Given the description of an element on the screen output the (x, y) to click on. 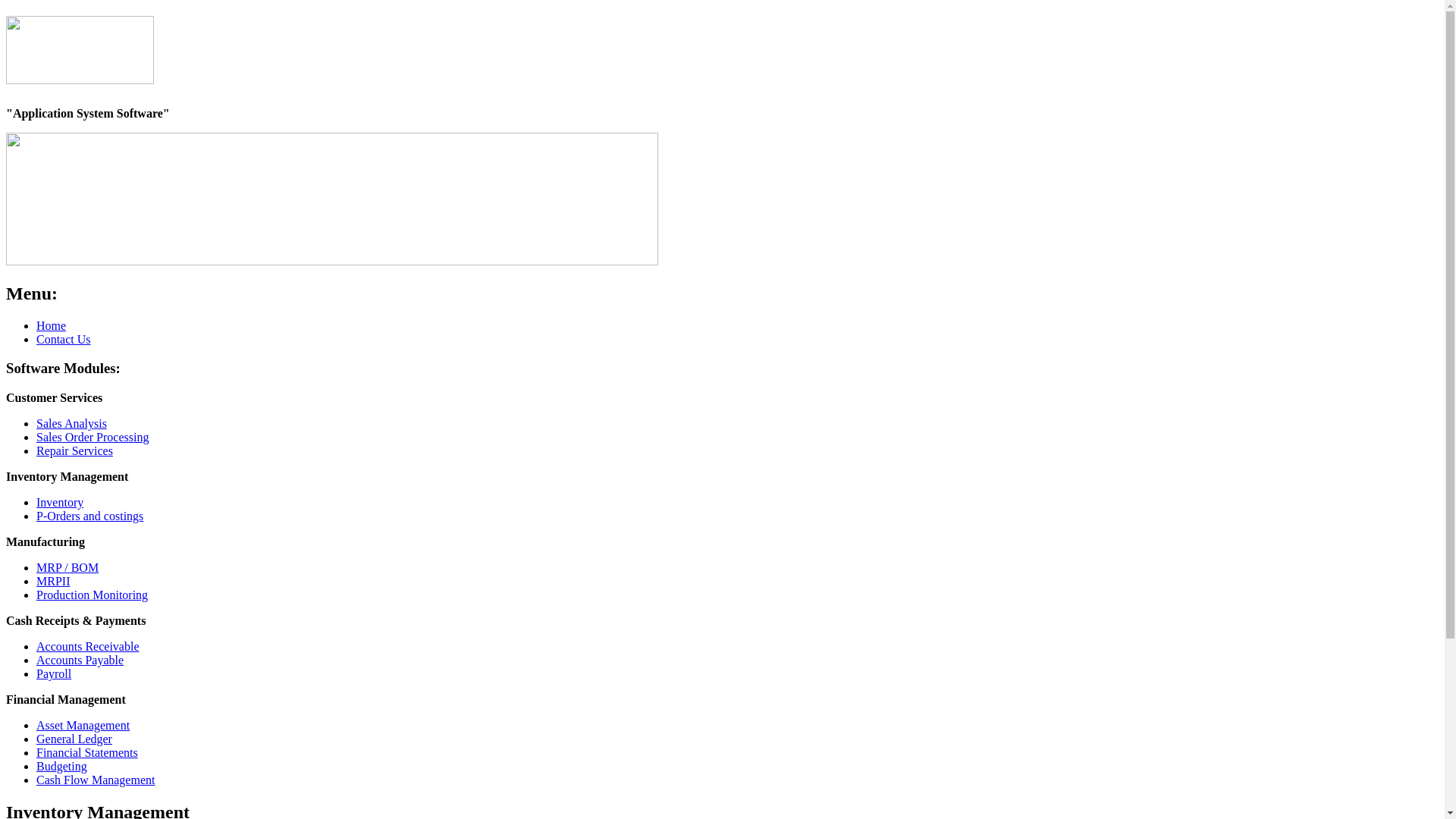
P-Orders and costings Element type: text (89, 515)
Contact Us Element type: text (63, 338)
Cash Flow Management Element type: text (95, 779)
Asset Management Element type: text (82, 724)
Home Element type: text (50, 325)
Budgeting Element type: text (61, 765)
Production Monitoring Element type: text (91, 594)
Payroll Element type: text (53, 673)
Accounts Payable Element type: text (79, 659)
Sales Analysis Element type: text (71, 423)
Accounts Receivable Element type: text (87, 646)
MRP / BOM Element type: text (67, 567)
Sales Order Processing Element type: text (92, 436)
Financial Statements Element type: text (87, 752)
Inventory Element type: text (59, 501)
General Ledger Element type: text (74, 738)
MRPII Element type: text (52, 580)
Repair Services Element type: text (74, 450)
